Given the description of an element on the screen output the (x, y) to click on. 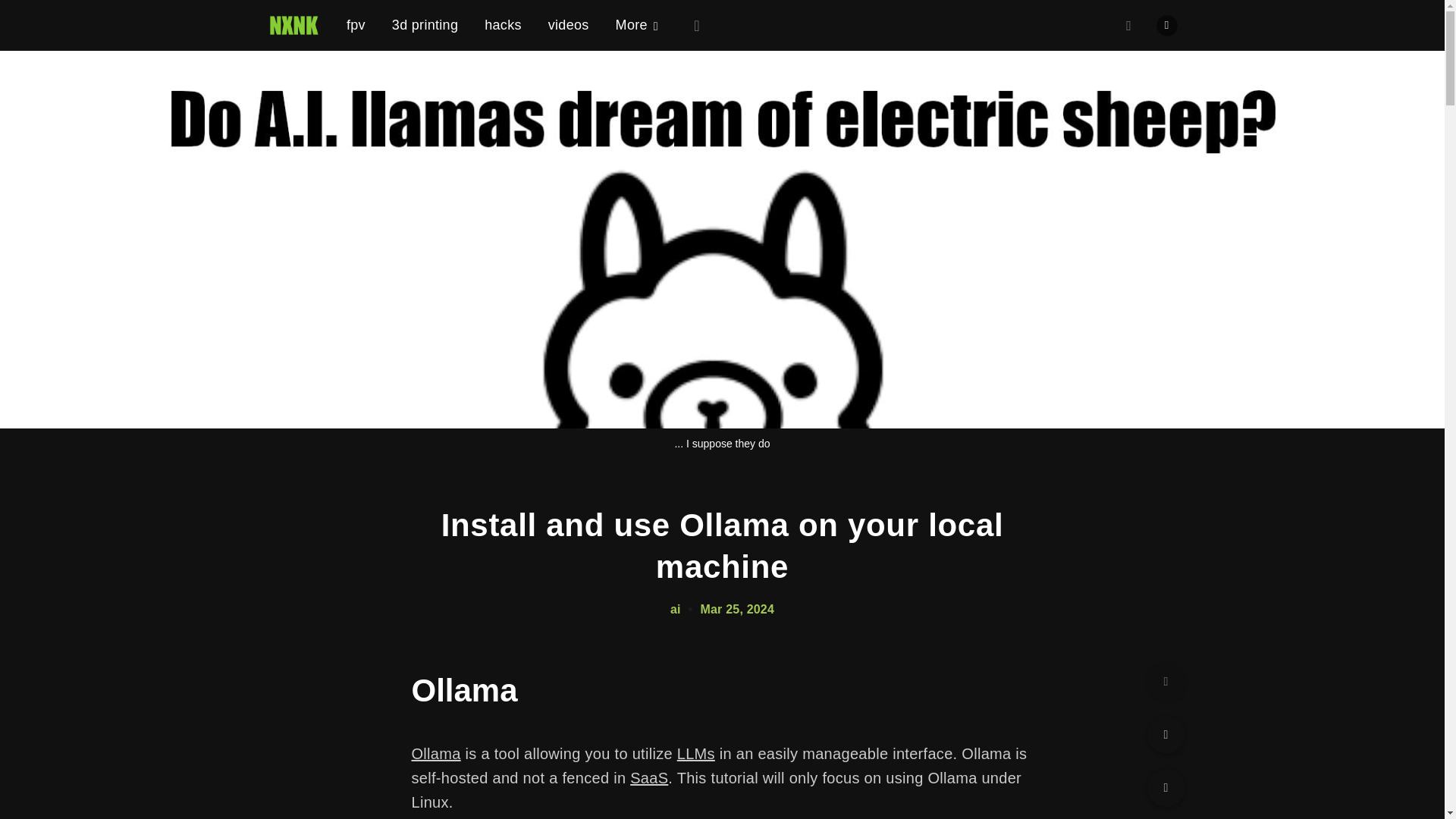
SaaS (649, 777)
3d printing (424, 24)
Ollama (435, 753)
fpv (355, 21)
hacks (502, 24)
videos (568, 24)
LLMs (695, 753)
More (636, 25)
